Given the description of an element on the screen output the (x, y) to click on. 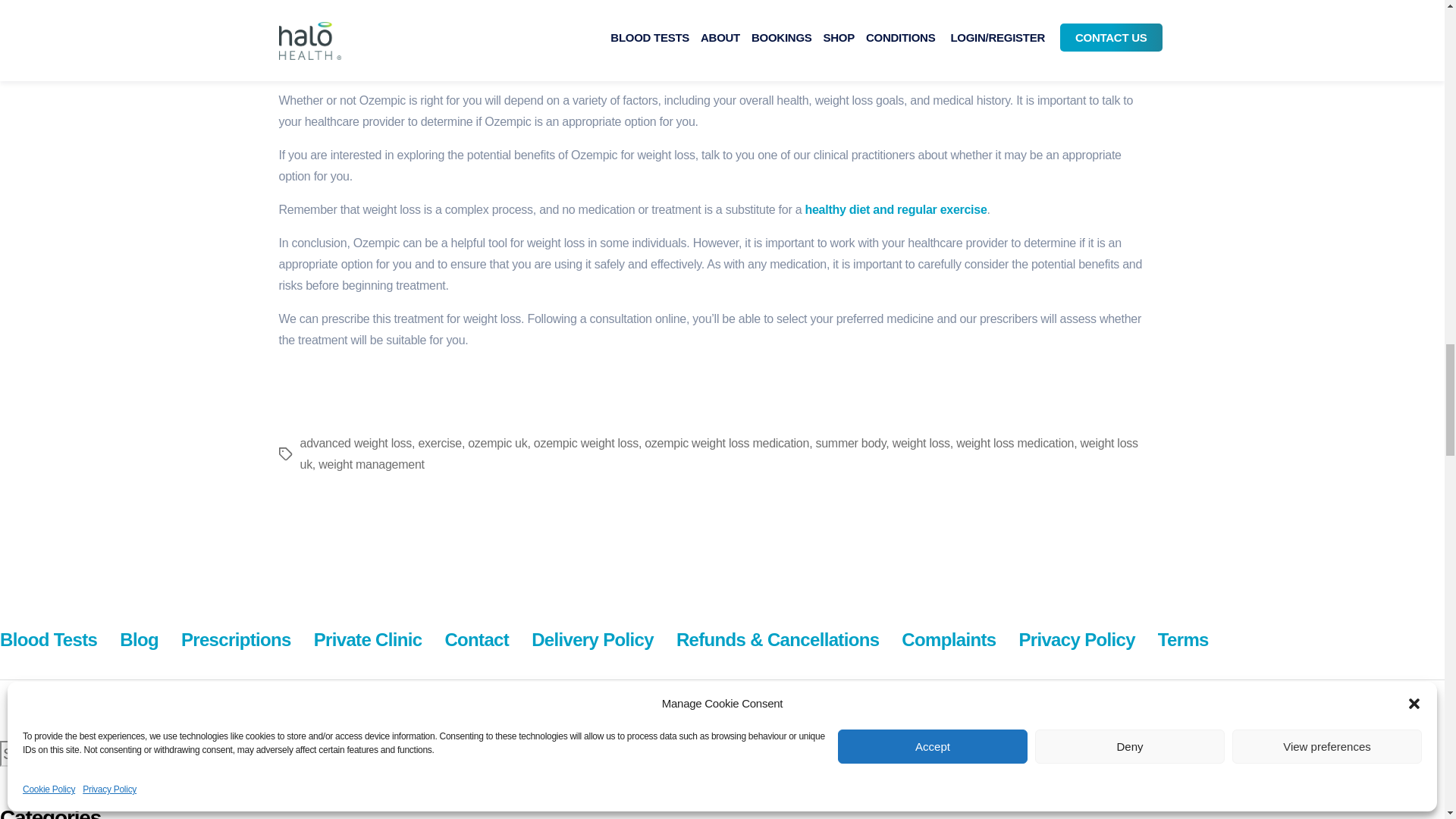
Search (713, 752)
Search (713, 752)
